Given the description of an element on the screen output the (x, y) to click on. 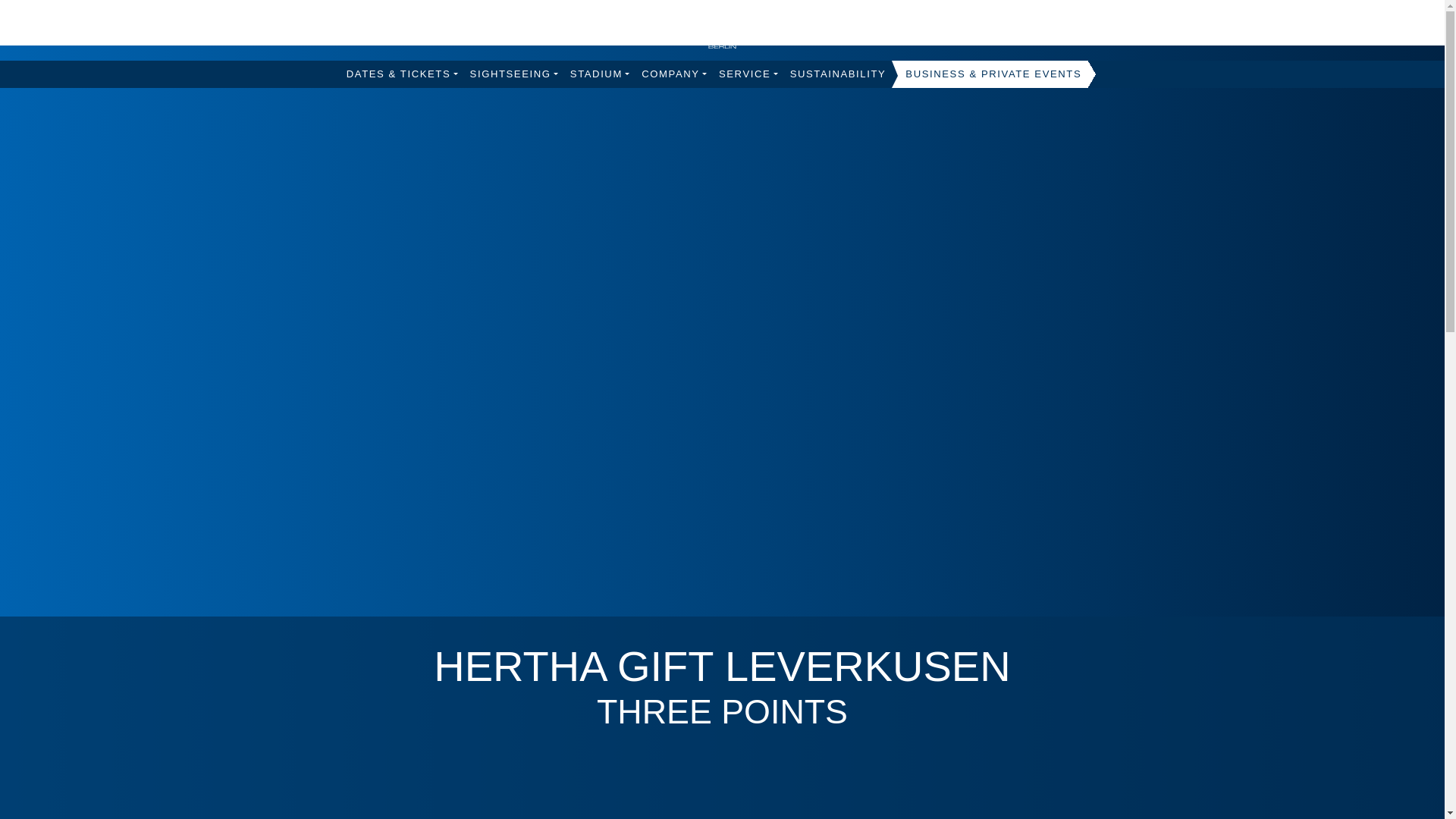
SIGHTSEEING (514, 73)
SUSTAINABILITY (838, 73)
STADIUM (599, 73)
COMPANY (673, 73)
SERVICE (748, 73)
Business Area (993, 73)
